Given the description of an element on the screen output the (x, y) to click on. 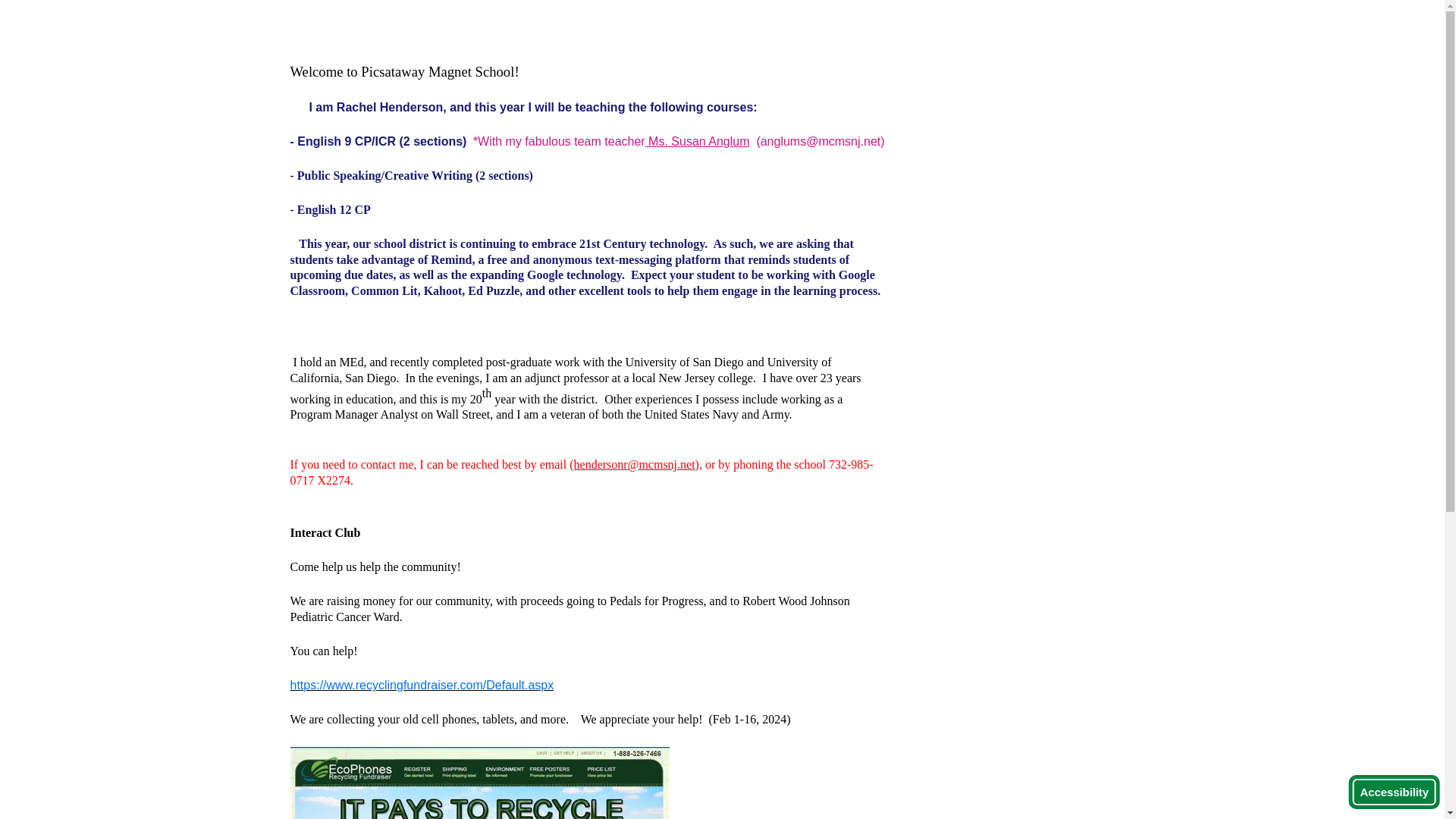
Accessibility Menu (1394, 791)
